Given the description of an element on the screen output the (x, y) to click on. 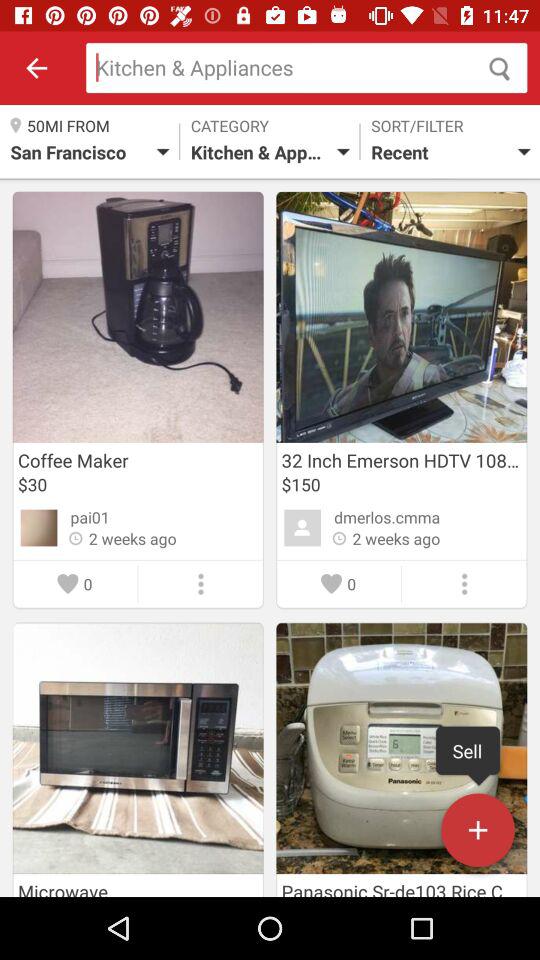
choose item above 2 weeks ago icon (89, 517)
